Given the description of an element on the screen output the (x, y) to click on. 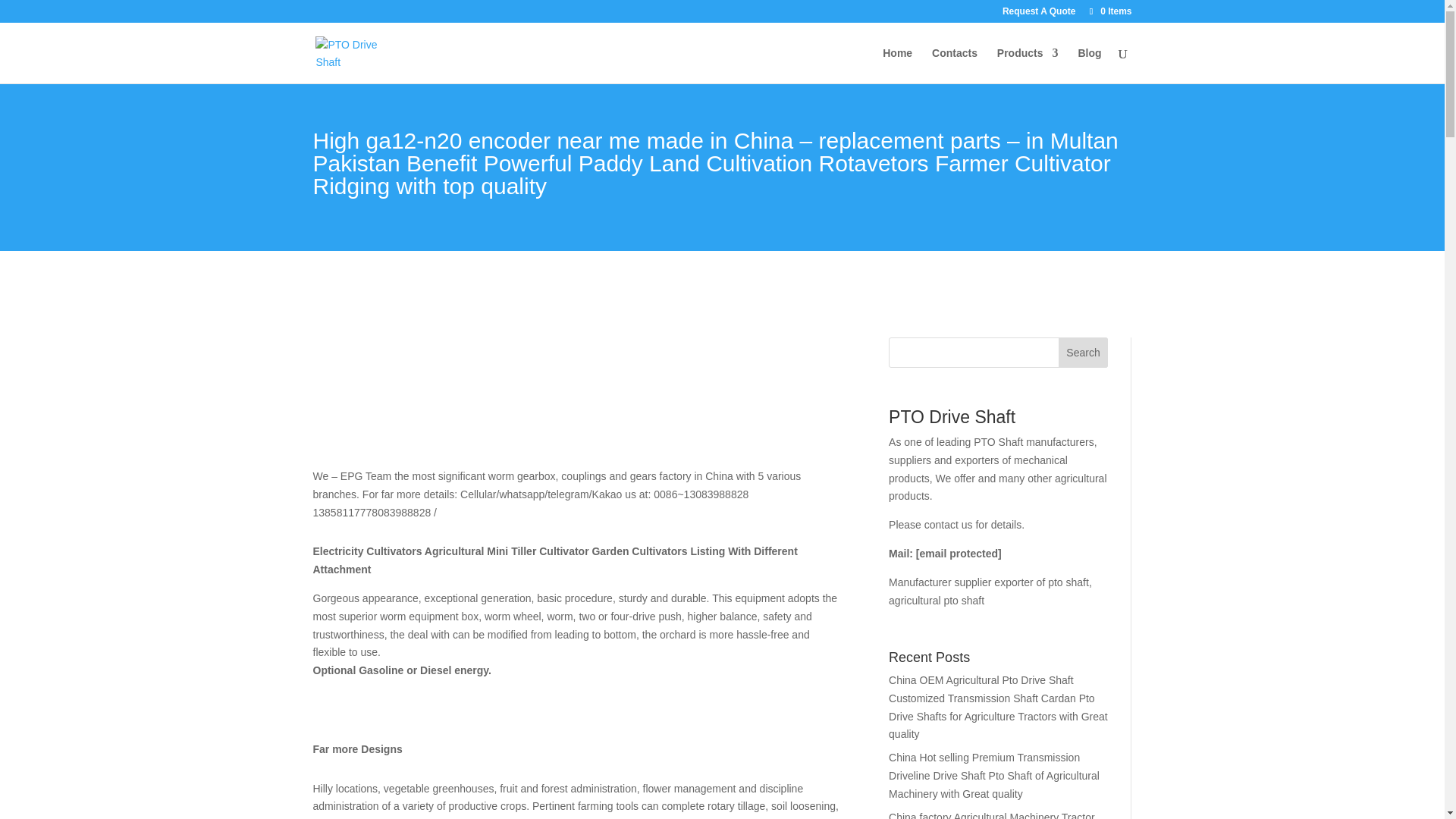
Contacts (953, 65)
Request A Quote (1039, 14)
Products (1027, 65)
0 Items (1108, 10)
Search (1083, 352)
Search (1083, 352)
